Given the description of an element on the screen output the (x, y) to click on. 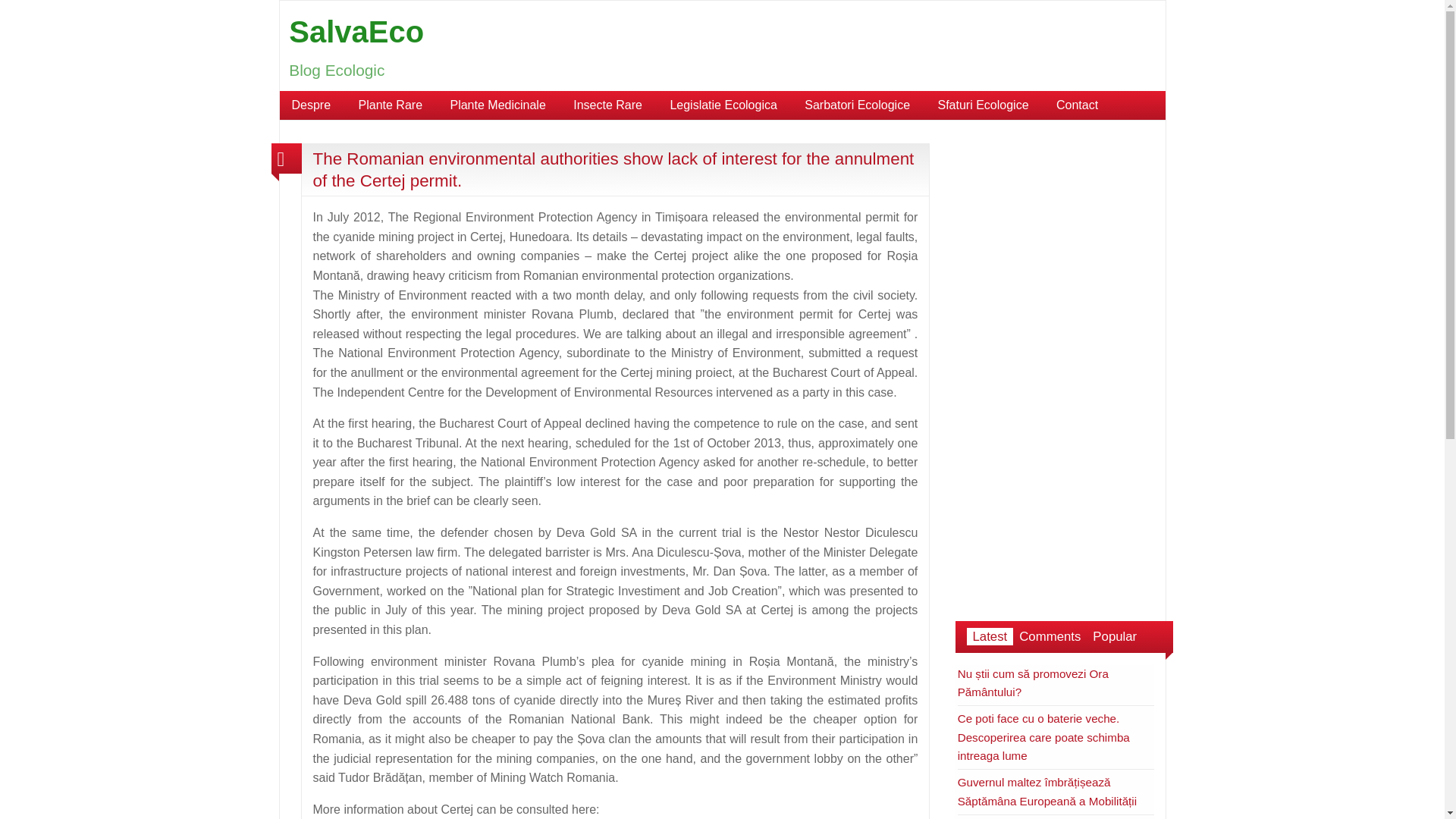
Despre (310, 104)
Latest (989, 636)
Legislatie Ecologica (723, 104)
Popular (1114, 636)
Sfaturi Ecologice (982, 104)
Comments (1049, 636)
Insecte Rare (606, 104)
Contact (1076, 104)
Plante Medicinale (497, 104)
SalvaEco (355, 31)
Plante Rare (390, 104)
Sarbatori Ecologice (856, 104)
